Given the description of an element on the screen output the (x, y) to click on. 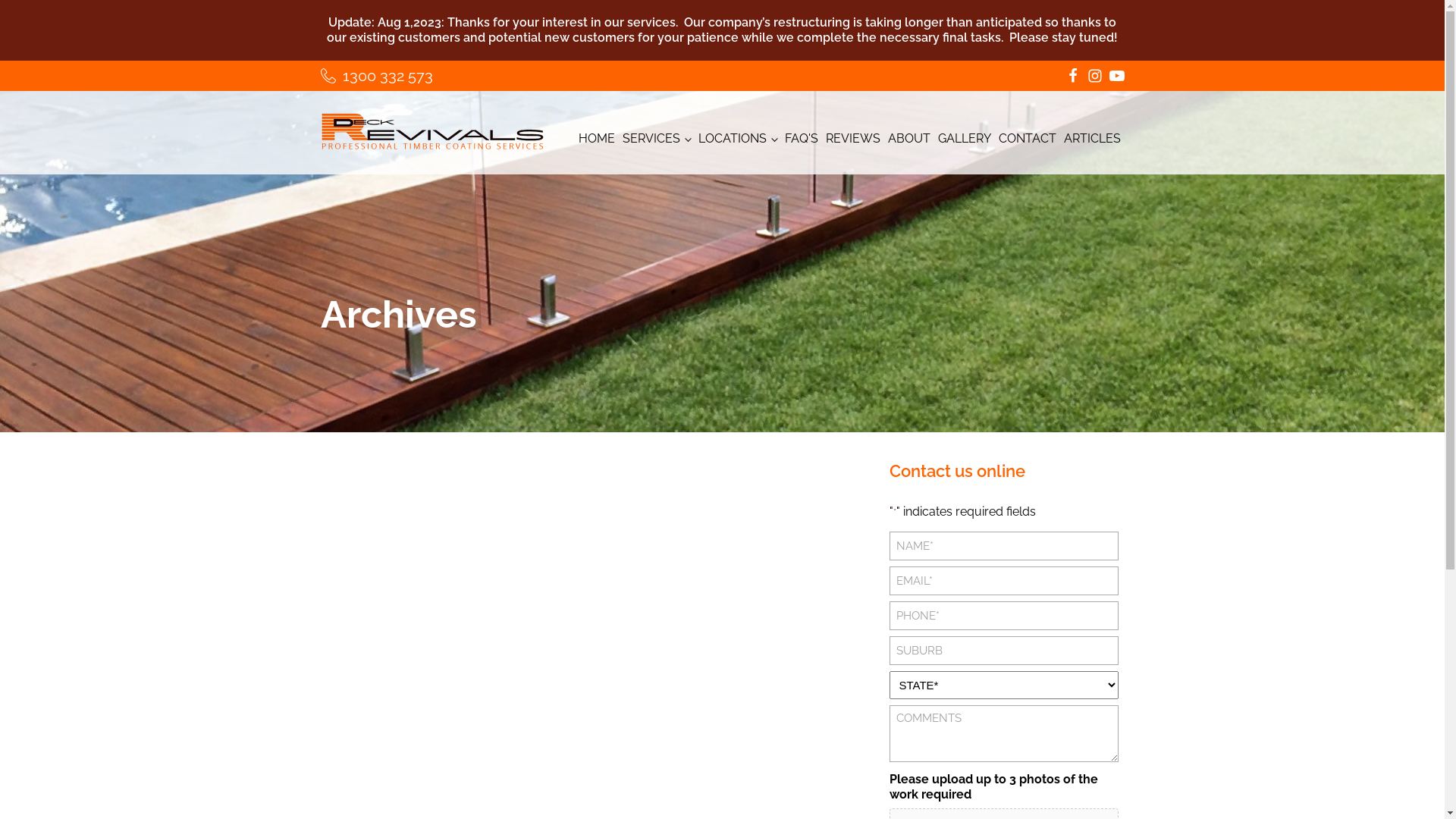
GALLERY Element type: text (964, 142)
ABOUT Element type: text (909, 142)
1300 332 573 Element type: text (376, 75)
HOME Element type: text (596, 142)
REVIEWS Element type: text (853, 142)
LOCATIONS Element type: text (737, 142)
SERVICES Element type: text (656, 142)
ARTICLES Element type: text (1092, 142)
CONTACT Element type: text (1027, 142)
FAQ'S Element type: text (801, 142)
